Given the description of an element on the screen output the (x, y) to click on. 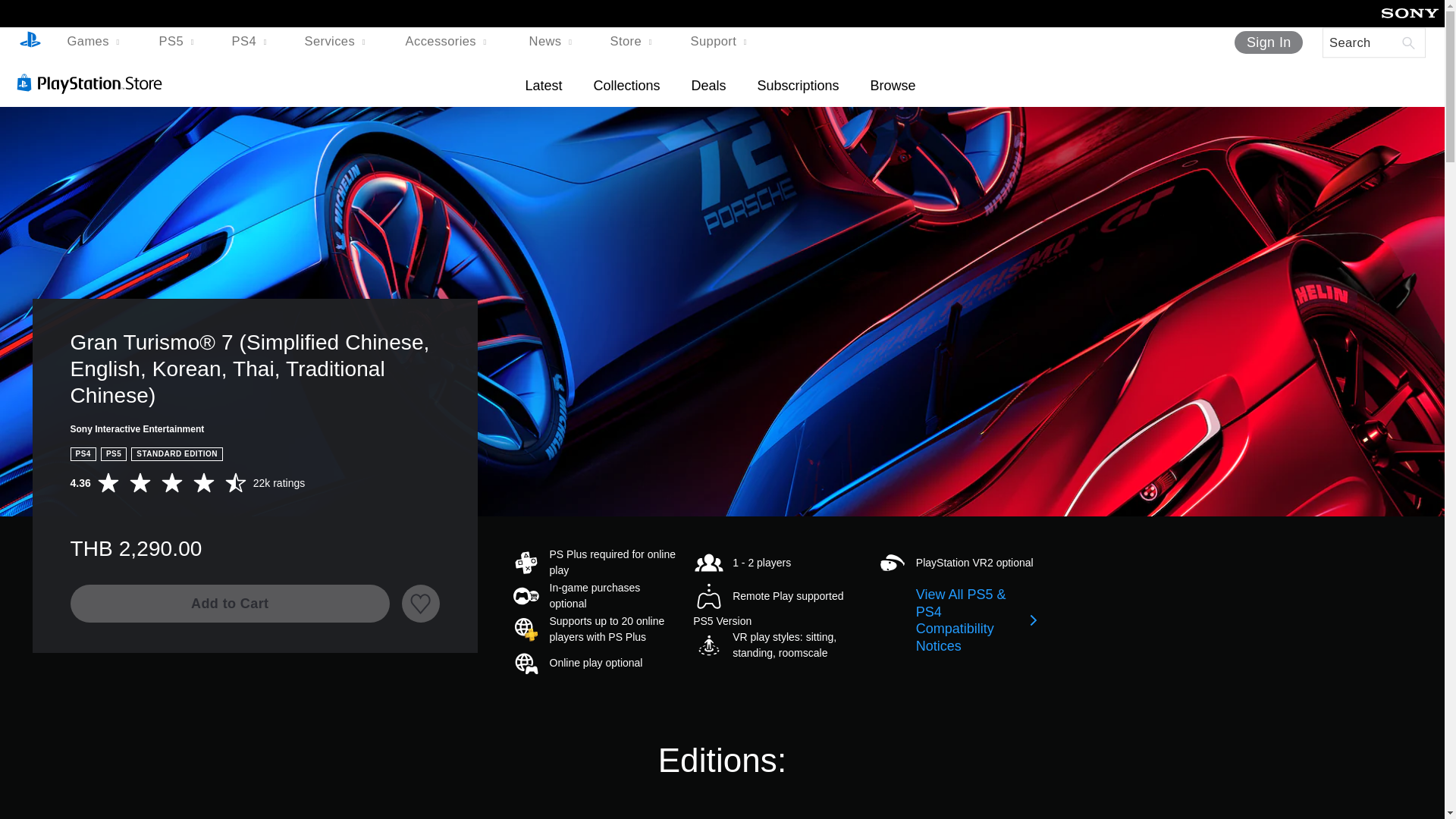
PS5 (177, 42)
PS4 (250, 42)
Games (96, 42)
Services (337, 42)
Accessories (449, 42)
